Given the description of an element on the screen output the (x, y) to click on. 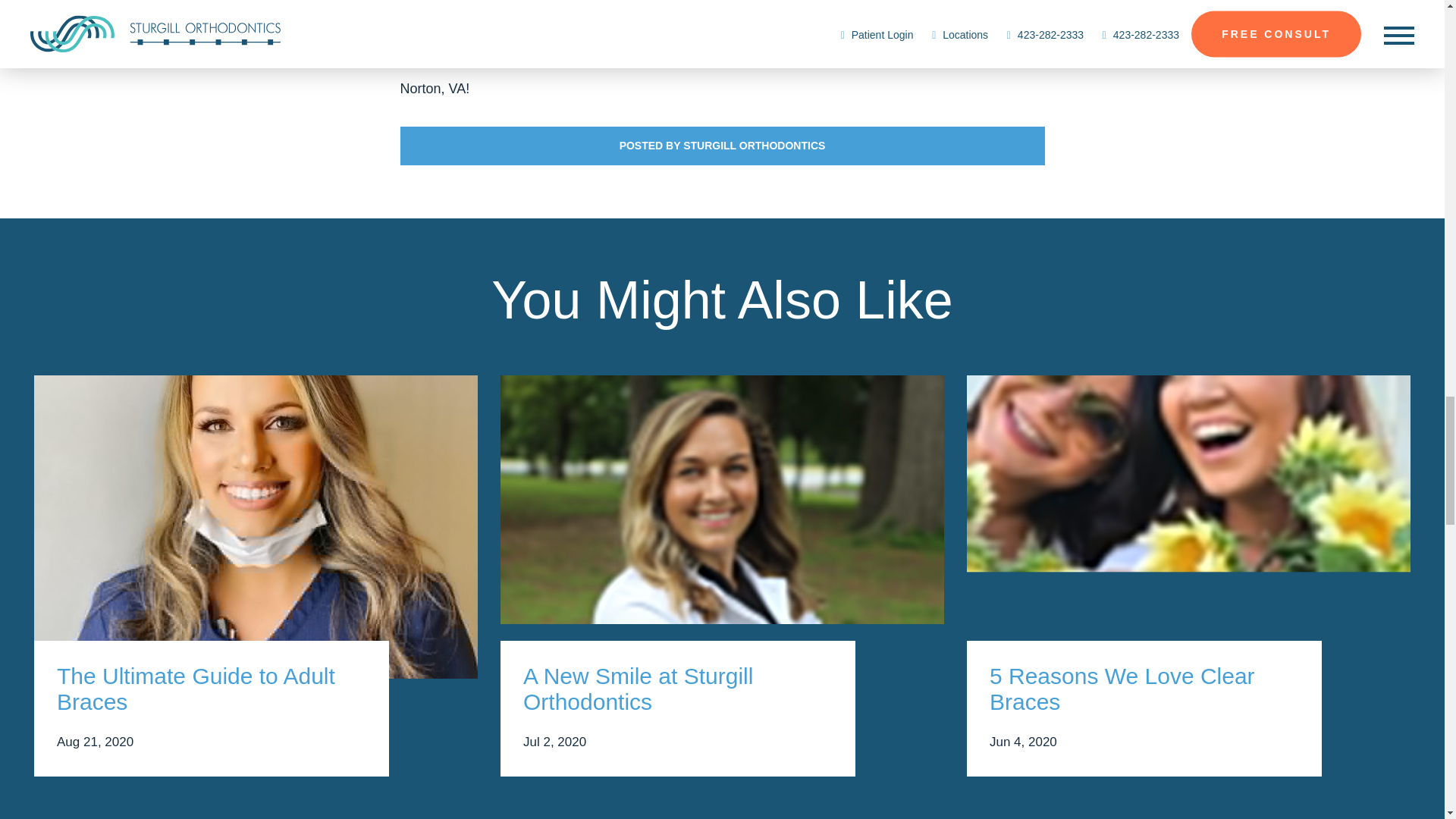
A New Smile at Sturgill Orthodontics (677, 688)
The Ultimate Guide to Adult Braces (211, 688)
5 Reasons We Love Clear Braces (1144, 688)
